Given the description of an element on the screen output the (x, y) to click on. 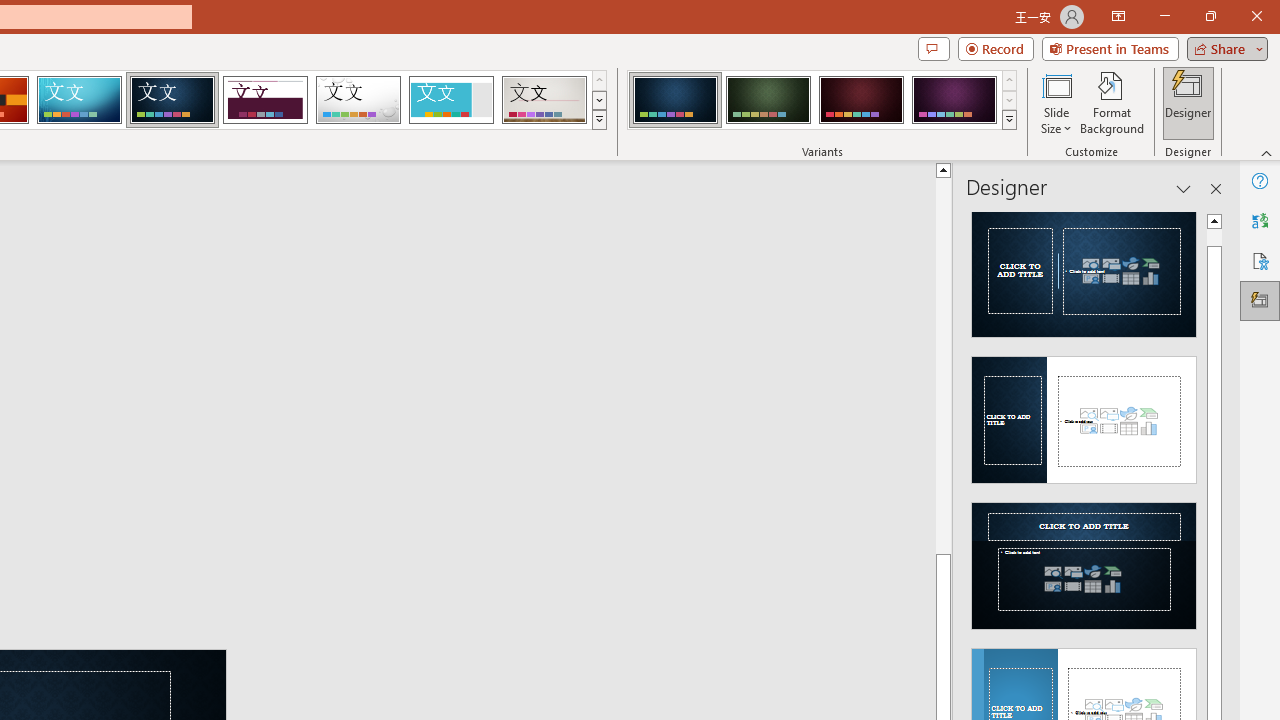
Dividend (265, 100)
Damask Variant 1 (674, 100)
Variants (1009, 120)
Damask Variant 4 (953, 100)
